Given the description of an element on the screen output the (x, y) to click on. 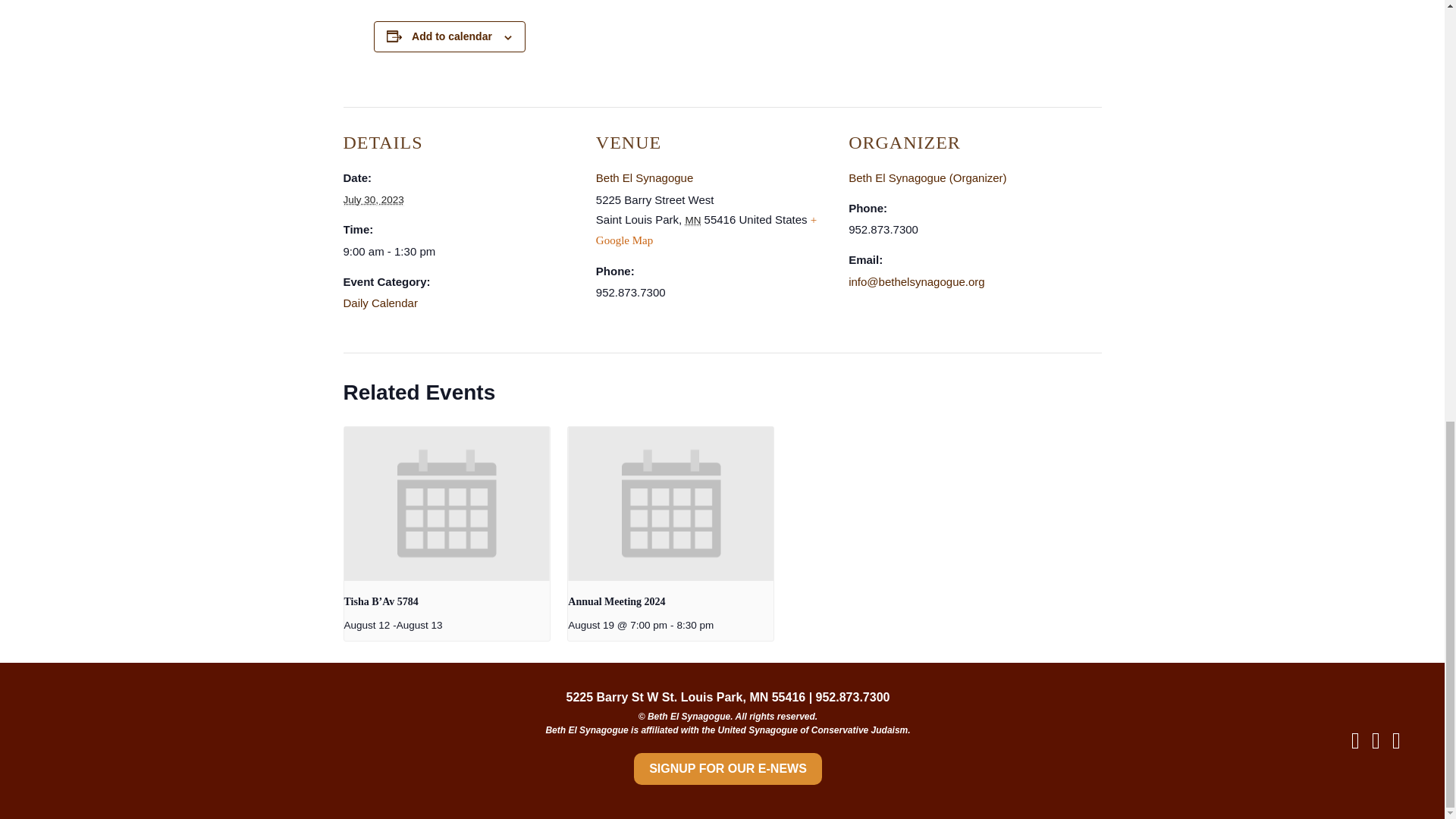
2023-07-30 (372, 200)
Click to view a Google Map (705, 229)
Minnesota (692, 220)
2023-07-30 (459, 251)
